Given the description of an element on the screen output the (x, y) to click on. 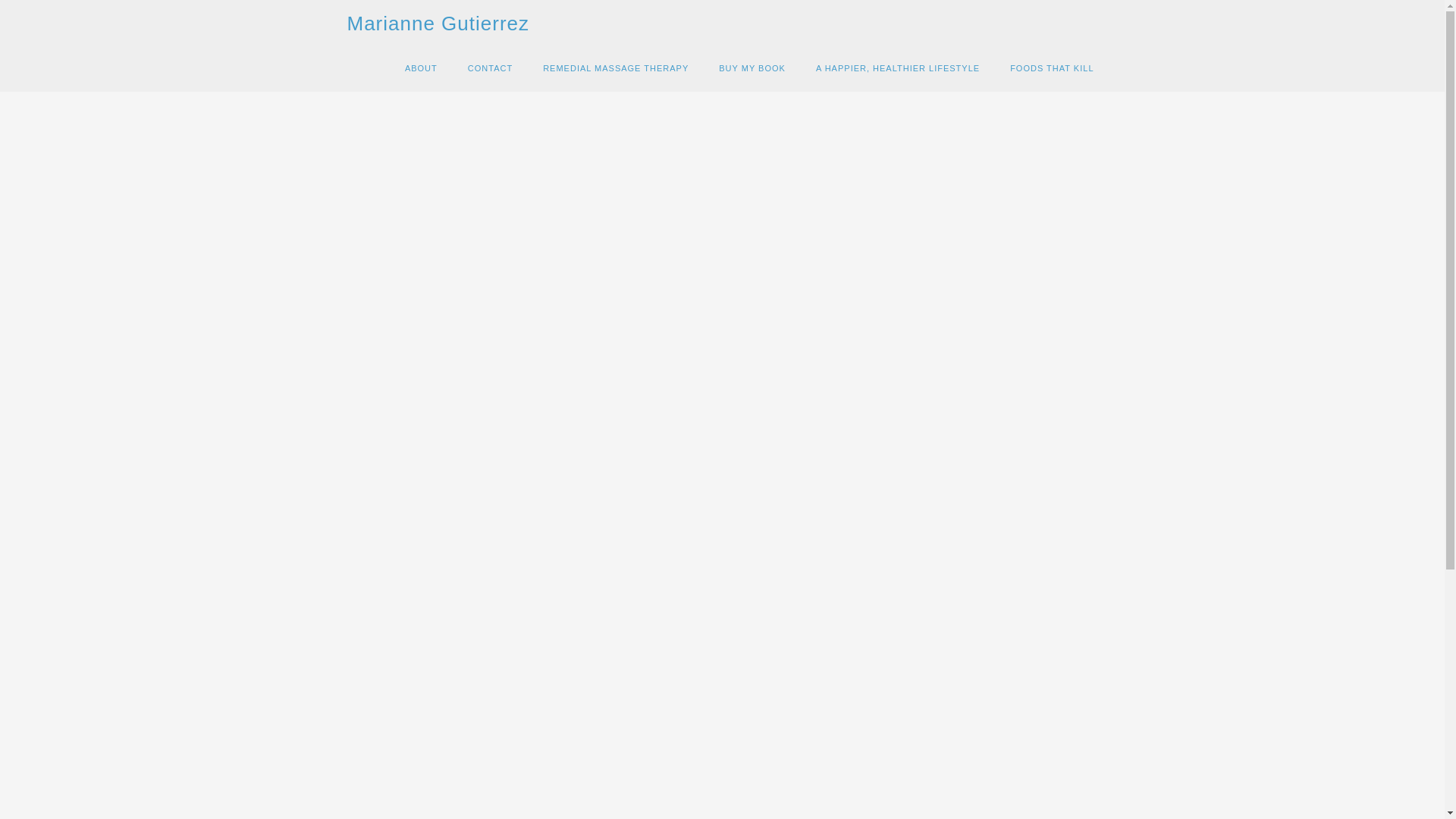
A HAPPIER, HEALTHIER LIFESTYLE (897, 68)
REMEDIAL MASSAGE THERAPY (615, 68)
FOODS THAT KILL (1051, 68)
BUY MY BOOK (751, 68)
Search (1061, 583)
Marianne Gutierrez (438, 23)
Skip to content (440, 70)
ABOUT (421, 68)
Marianne Gutierrez (438, 23)
Menu (427, 72)
